Given the description of an element on the screen output the (x, y) to click on. 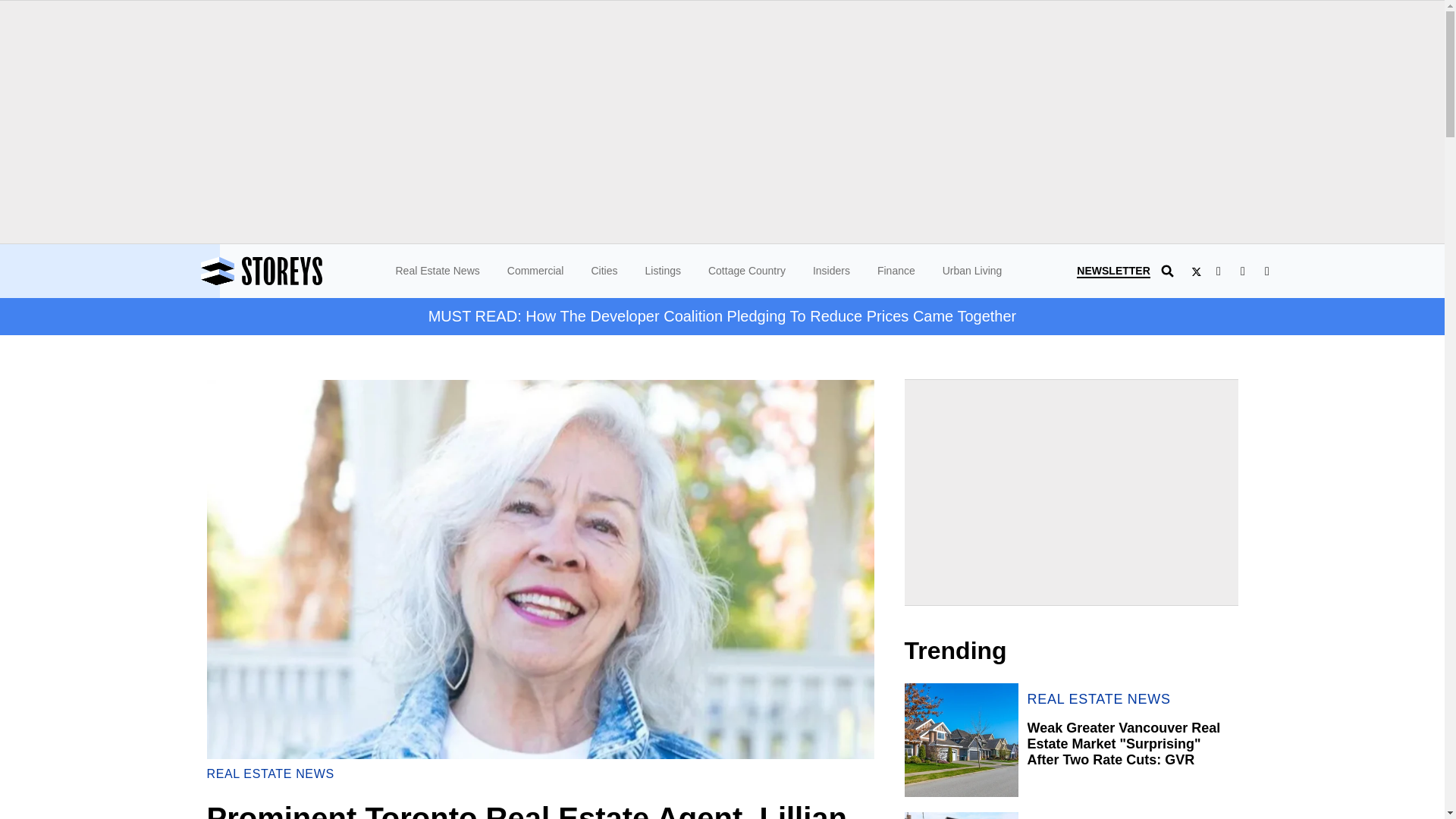
Real Estate News (437, 270)
Commercial (535, 270)
Cities (603, 270)
Storeys - Real Estate News in Canada (302, 270)
Cottage Country (746, 270)
Listings (662, 270)
